Given the description of an element on the screen output the (x, y) to click on. 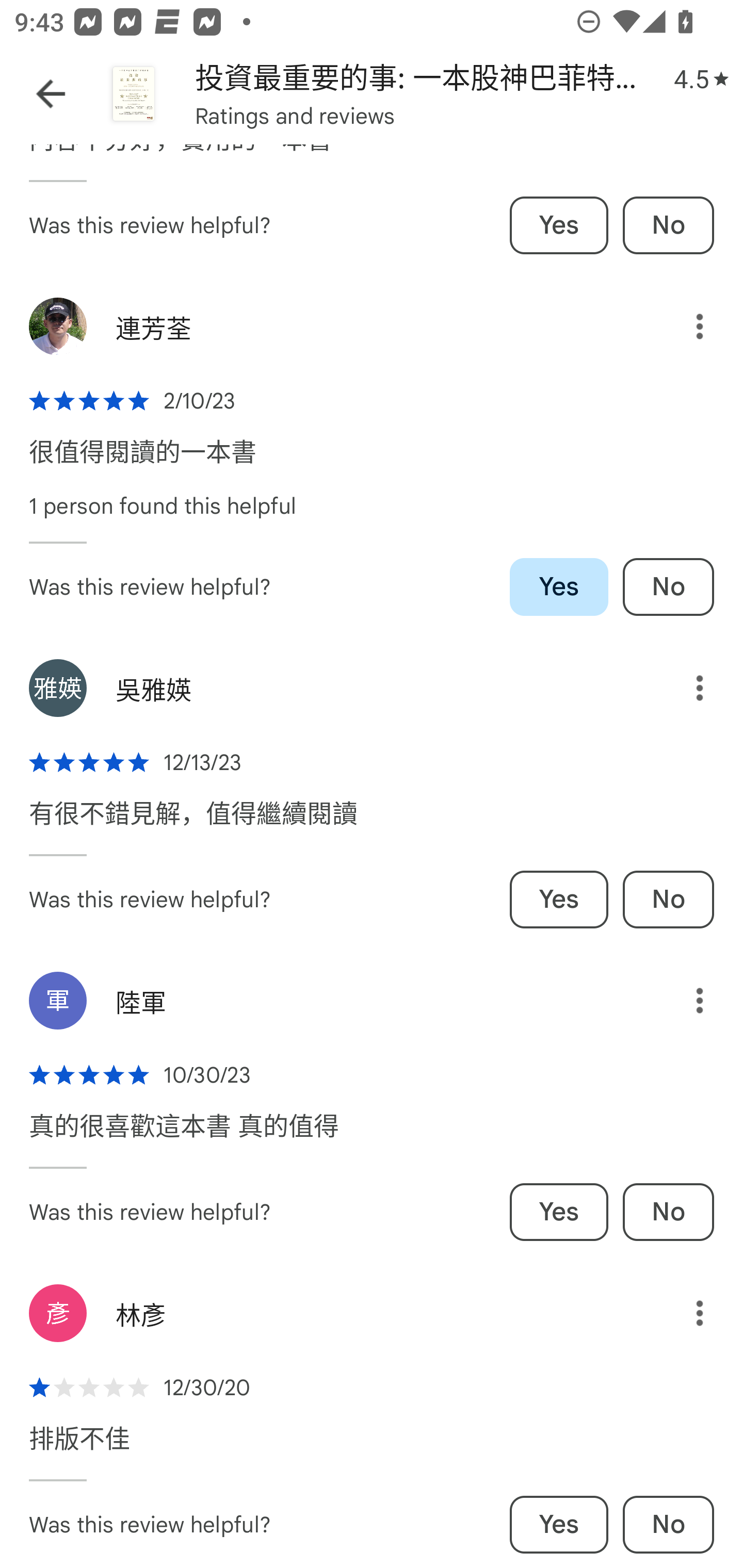
Navigate up (50, 93)
Yes (558, 225)
No (668, 225)
Options (685, 326)
很值得閱讀的一本書 (142, 461)
Yes (558, 587)
No (668, 587)
Options (685, 687)
有很不錯見解，值得繼續閱讀 (193, 823)
Yes (558, 899)
No (668, 899)
Options (685, 1001)
真的很喜歡這本書 真的值得 (183, 1135)
Yes (558, 1211)
No (668, 1211)
Options (685, 1313)
排版不佳 (79, 1448)
Yes (558, 1524)
No (668, 1524)
